Given the description of an element on the screen output the (x, y) to click on. 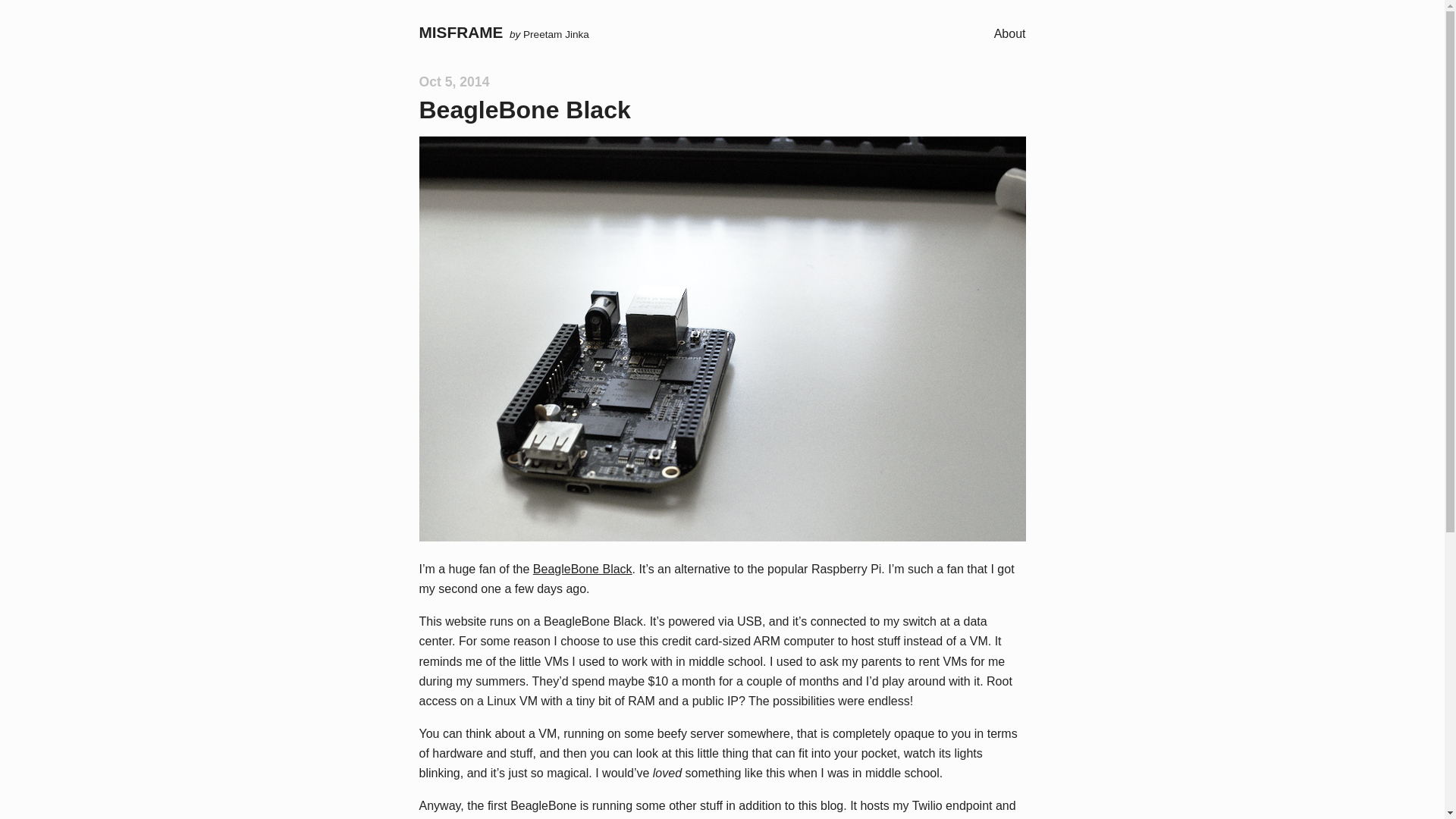
MISFRAME (460, 31)
BeagleBone Black (581, 568)
About (1010, 33)
